Given the description of an element on the screen output the (x, y) to click on. 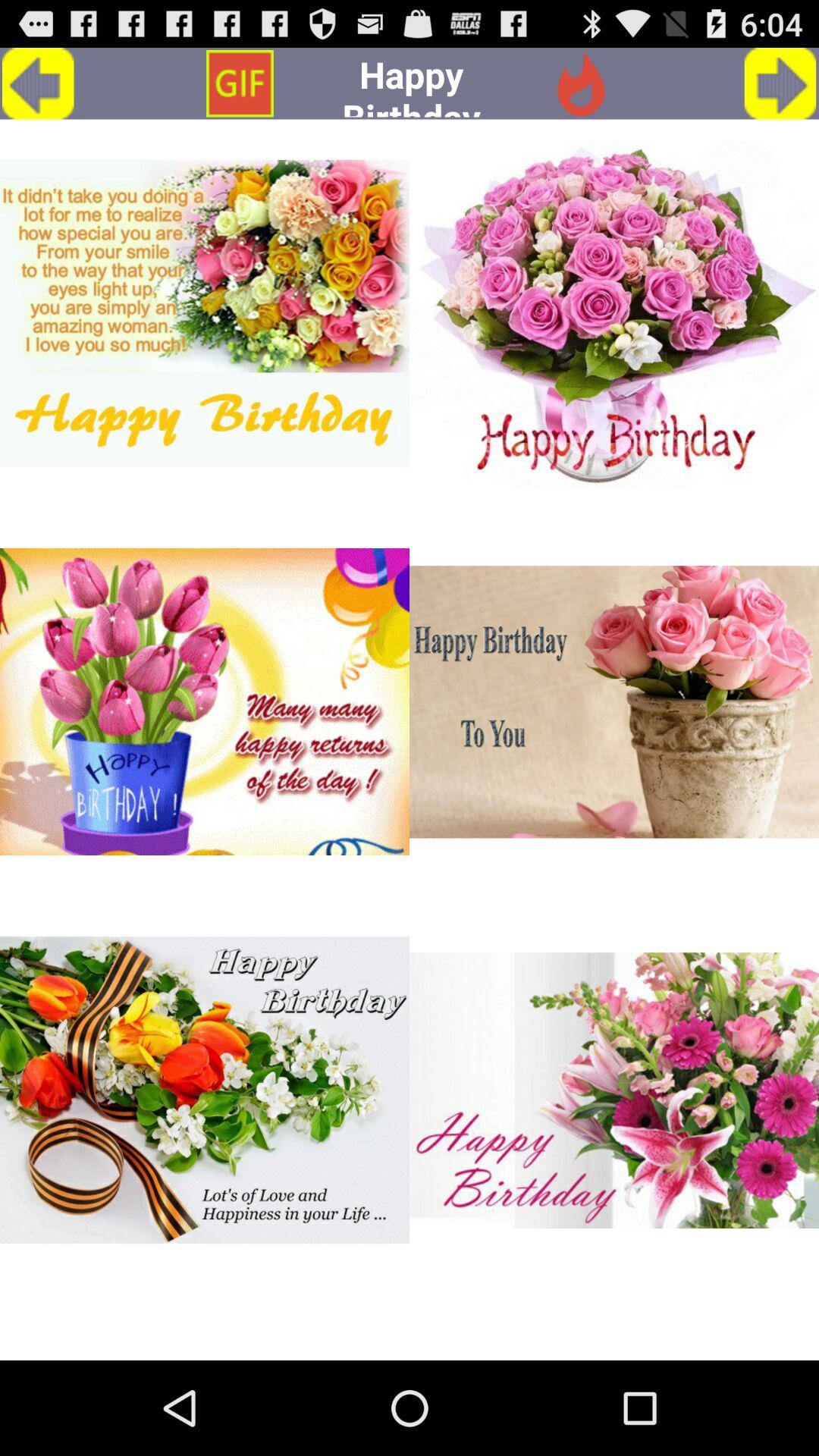
view the gif (614, 1090)
